Given the description of an element on the screen output the (x, y) to click on. 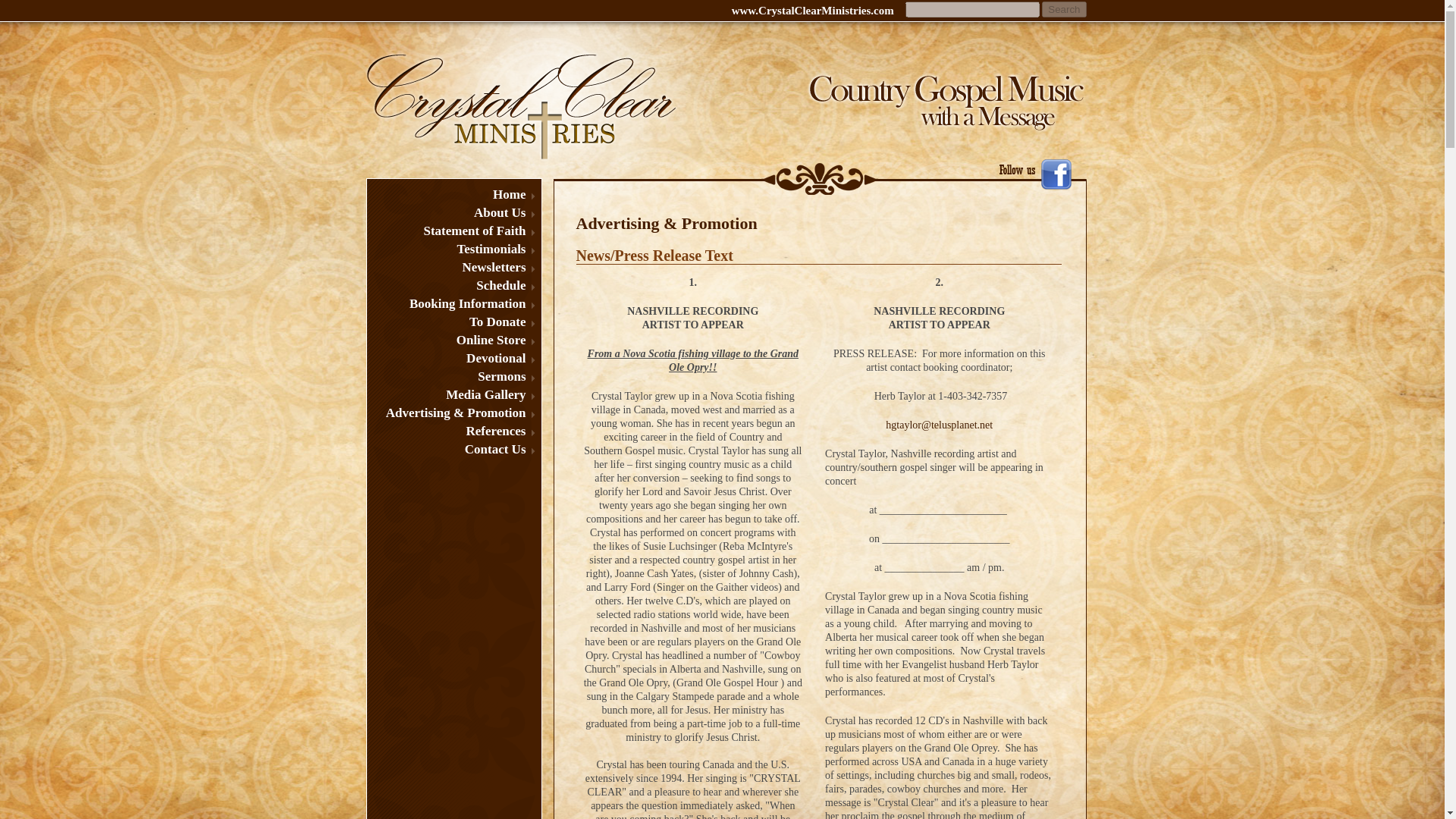
Search (1064, 9)
Search (1064, 9)
Home (453, 194)
www.CrystalClearMinistries.com (812, 8)
Online Store (453, 340)
To Donate (453, 321)
Schedule (453, 285)
Booking Information (453, 303)
Newsletters (453, 267)
About Us (453, 212)
Search (1064, 9)
Statement of Faith (453, 230)
Testimonials (453, 248)
